Given the description of an element on the screen output the (x, y) to click on. 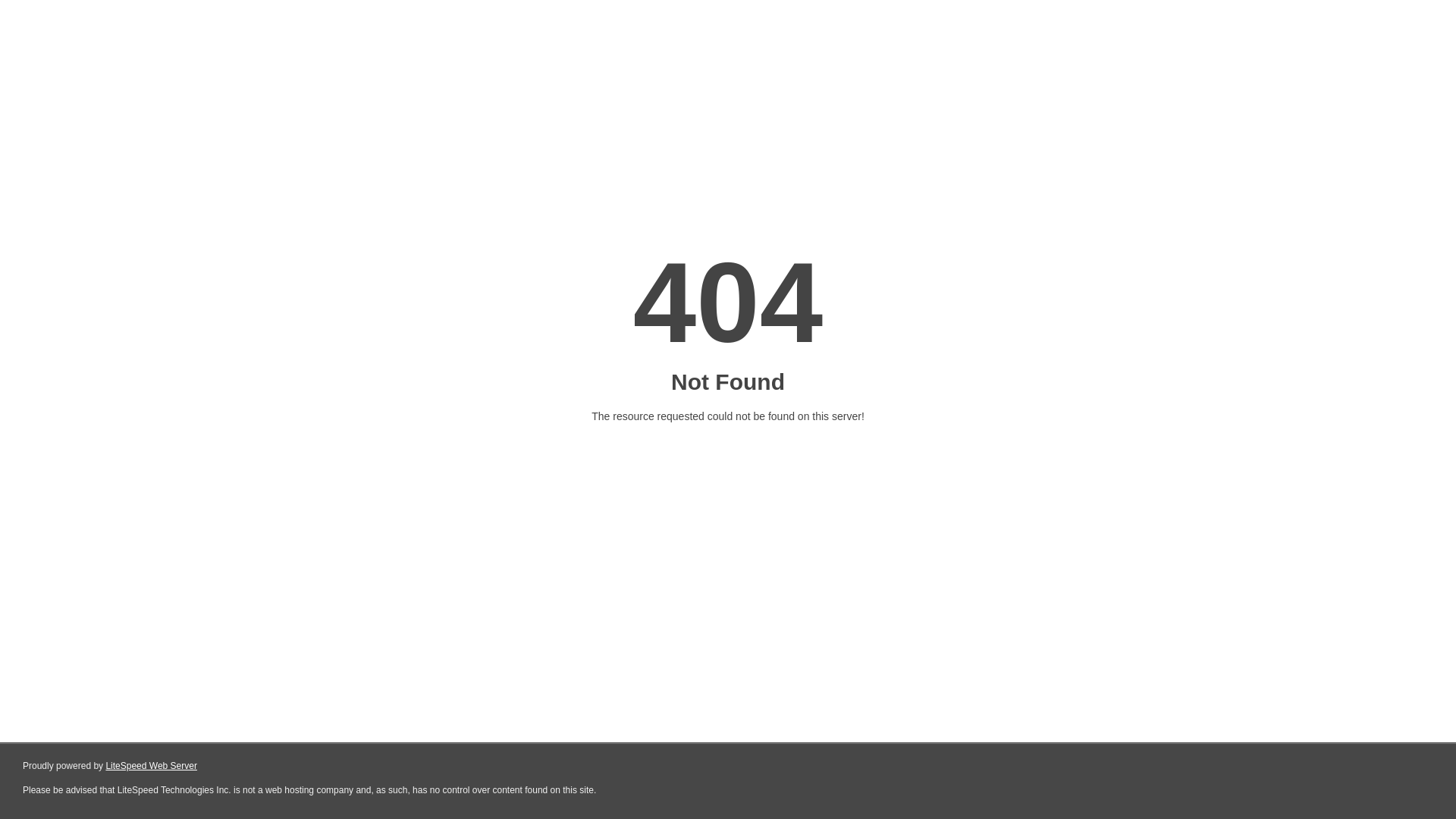
LiteSpeed Web Server Element type: text (151, 765)
